Given the description of an element on the screen output the (x, y) to click on. 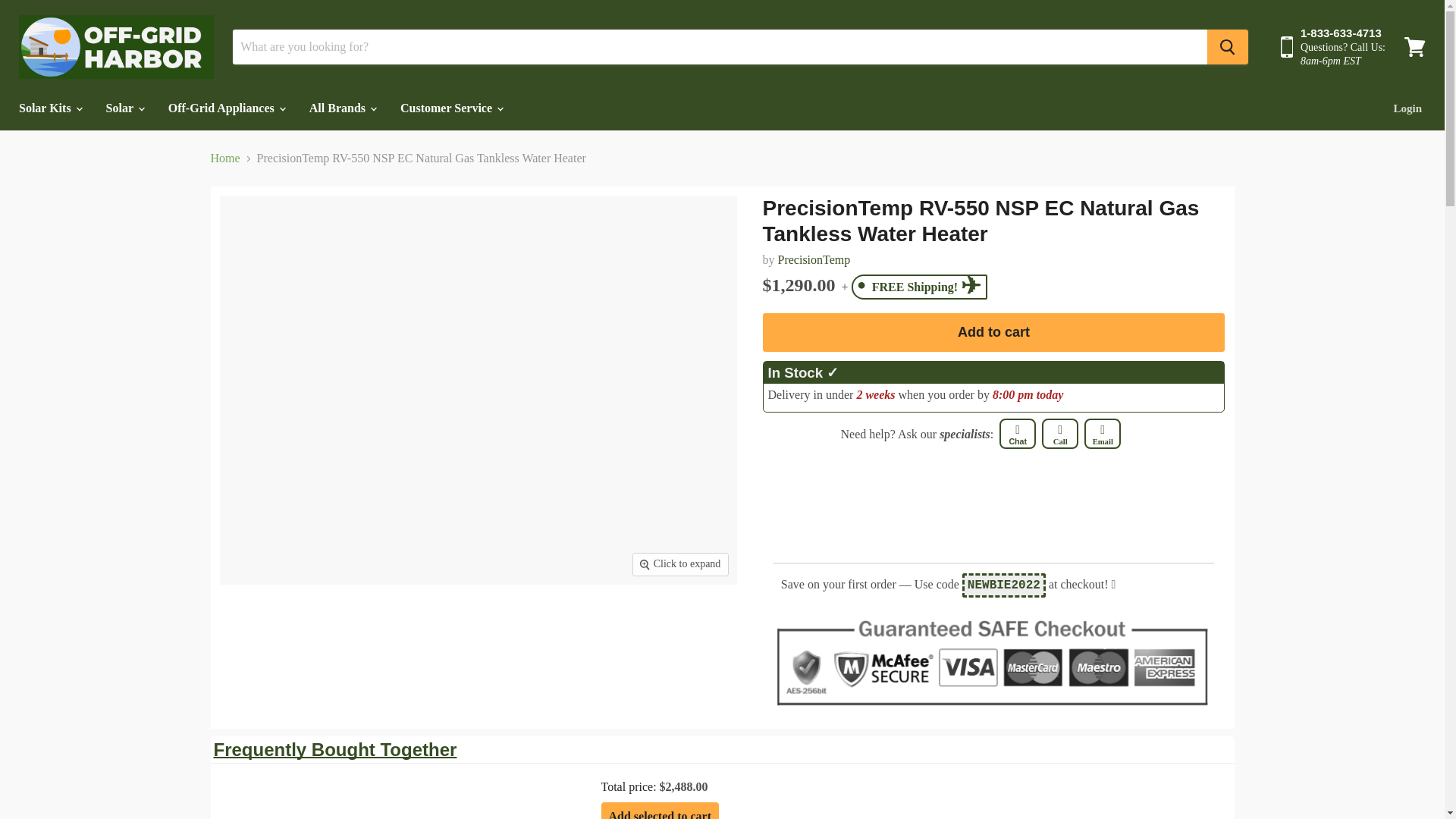
Solar Kits (49, 108)
Solar (124, 108)
View cart (1414, 46)
PrecisionTemp (813, 259)
